Given the description of an element on the screen output the (x, y) to click on. 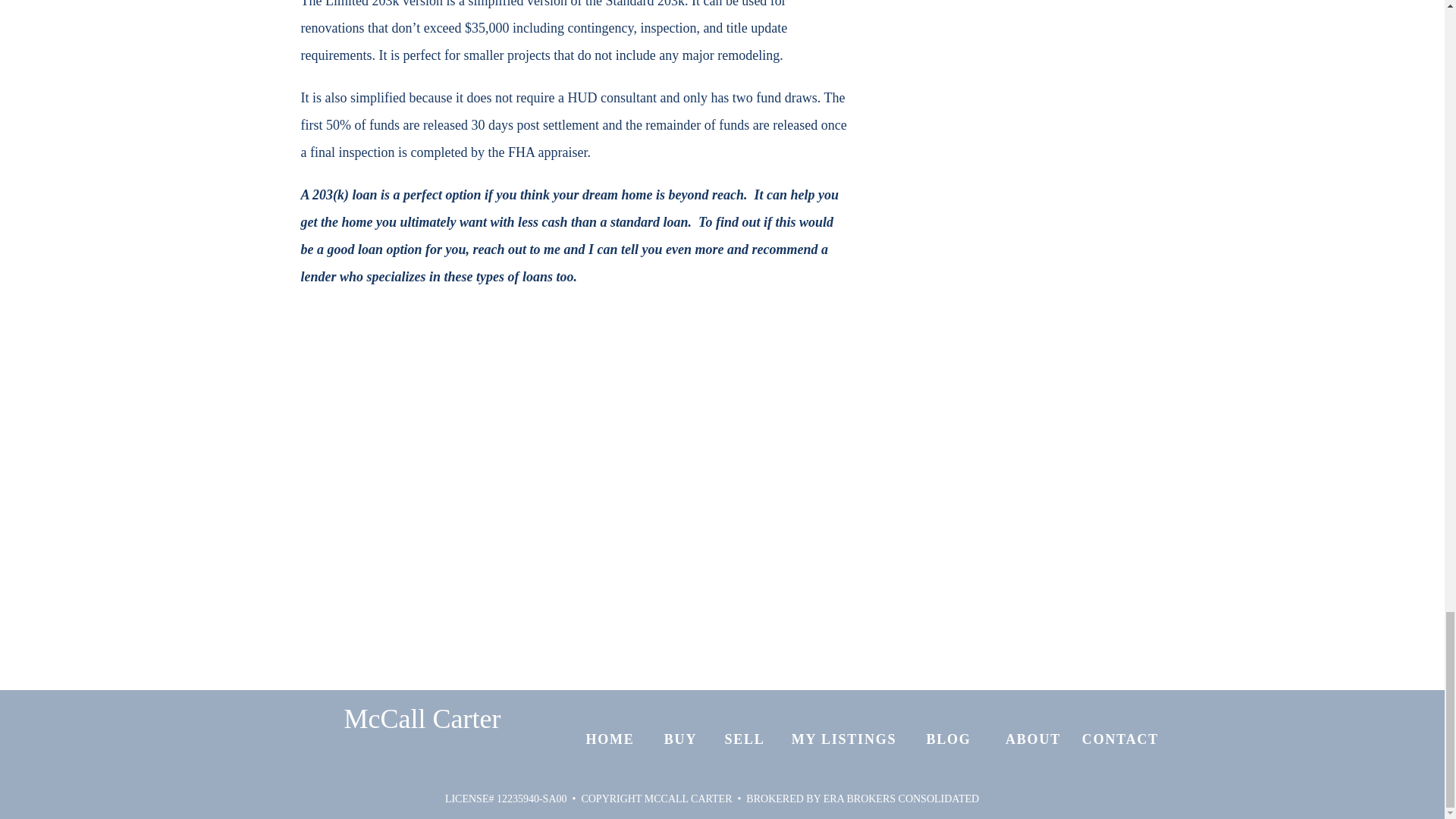
BUY (680, 736)
CONTACT (1120, 736)
HOME (609, 736)
MY LISTINGS (844, 736)
SELL (745, 736)
BLOG (949, 736)
McCall Carter (421, 736)
ABOUT (1032, 736)
